Given the description of an element on the screen output the (x, y) to click on. 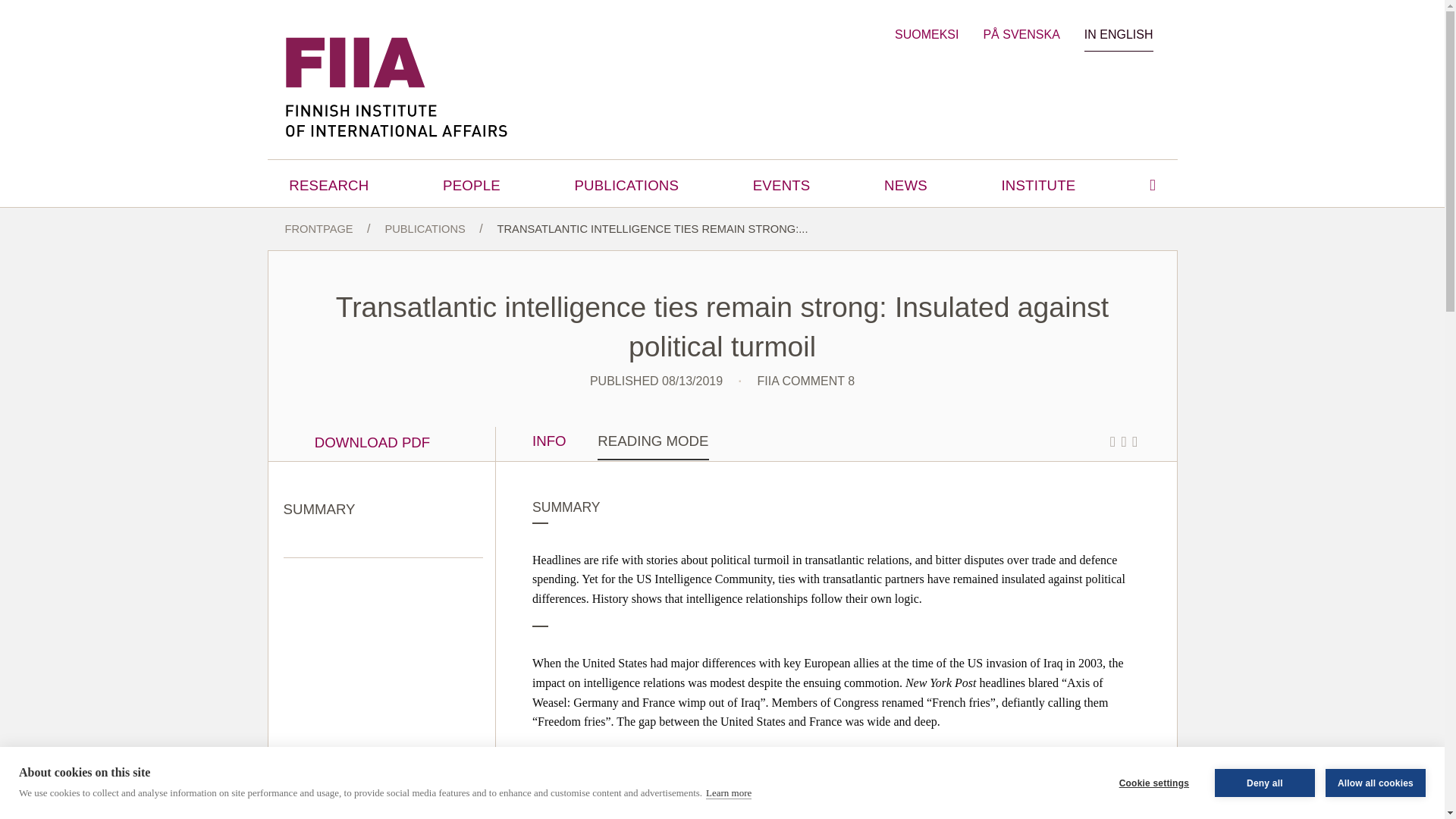
IN ENGLISH (1118, 34)
Cookie settings (1153, 801)
Allow all cookies (1374, 793)
Learn more (728, 818)
Deny all (1264, 796)
SUOMEKSI (926, 34)
